Given the description of an element on the screen output the (x, y) to click on. 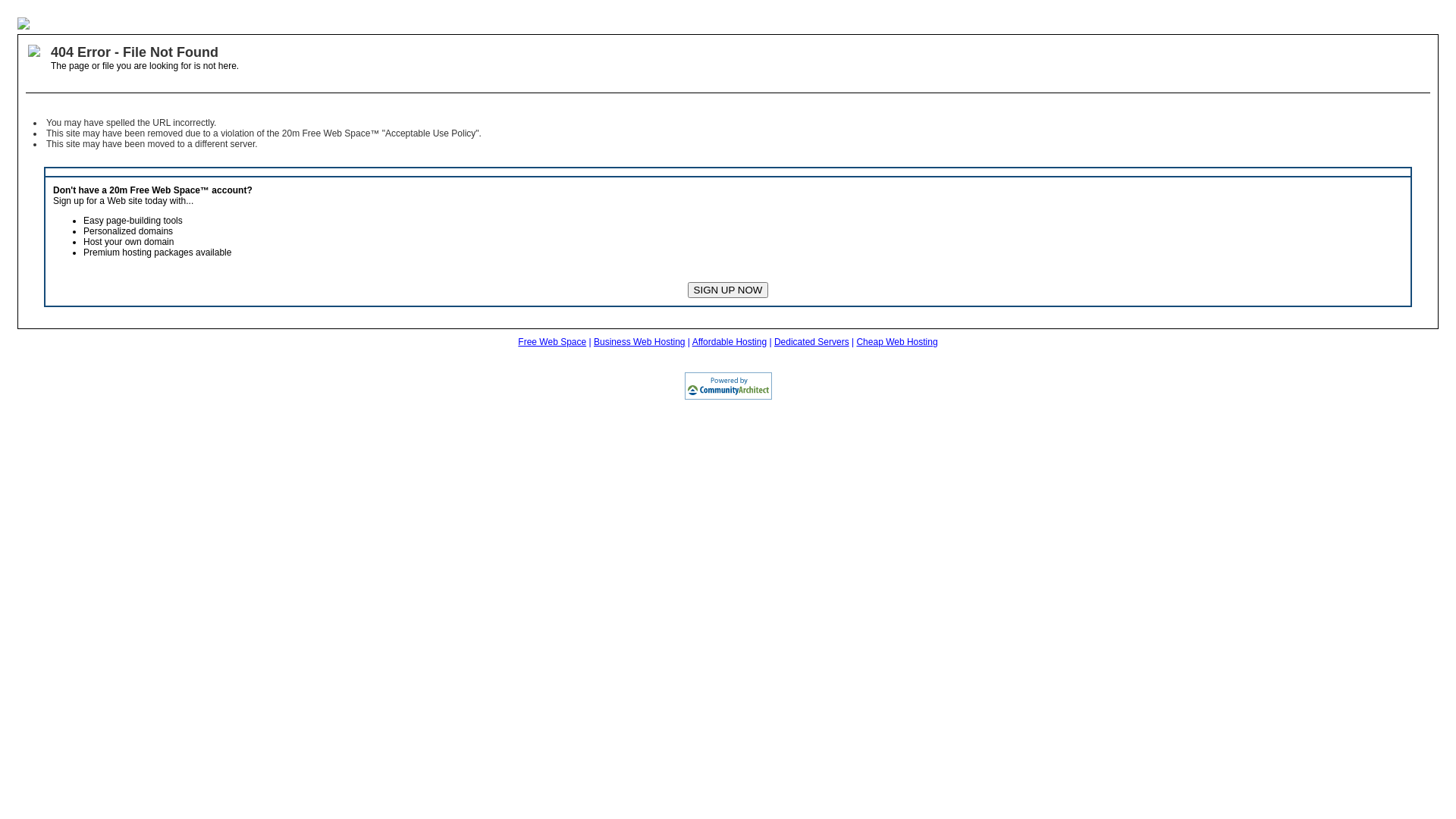
SIGN UP NOW Element type: text (727, 290)
Cheap Web Hosting Element type: text (896, 341)
Dedicated Servers Element type: text (811, 341)
Affordable Hosting Element type: text (729, 341)
Business Web Hosting Element type: text (639, 341)
Free Web Space Element type: text (551, 341)
